Given the description of an element on the screen output the (x, y) to click on. 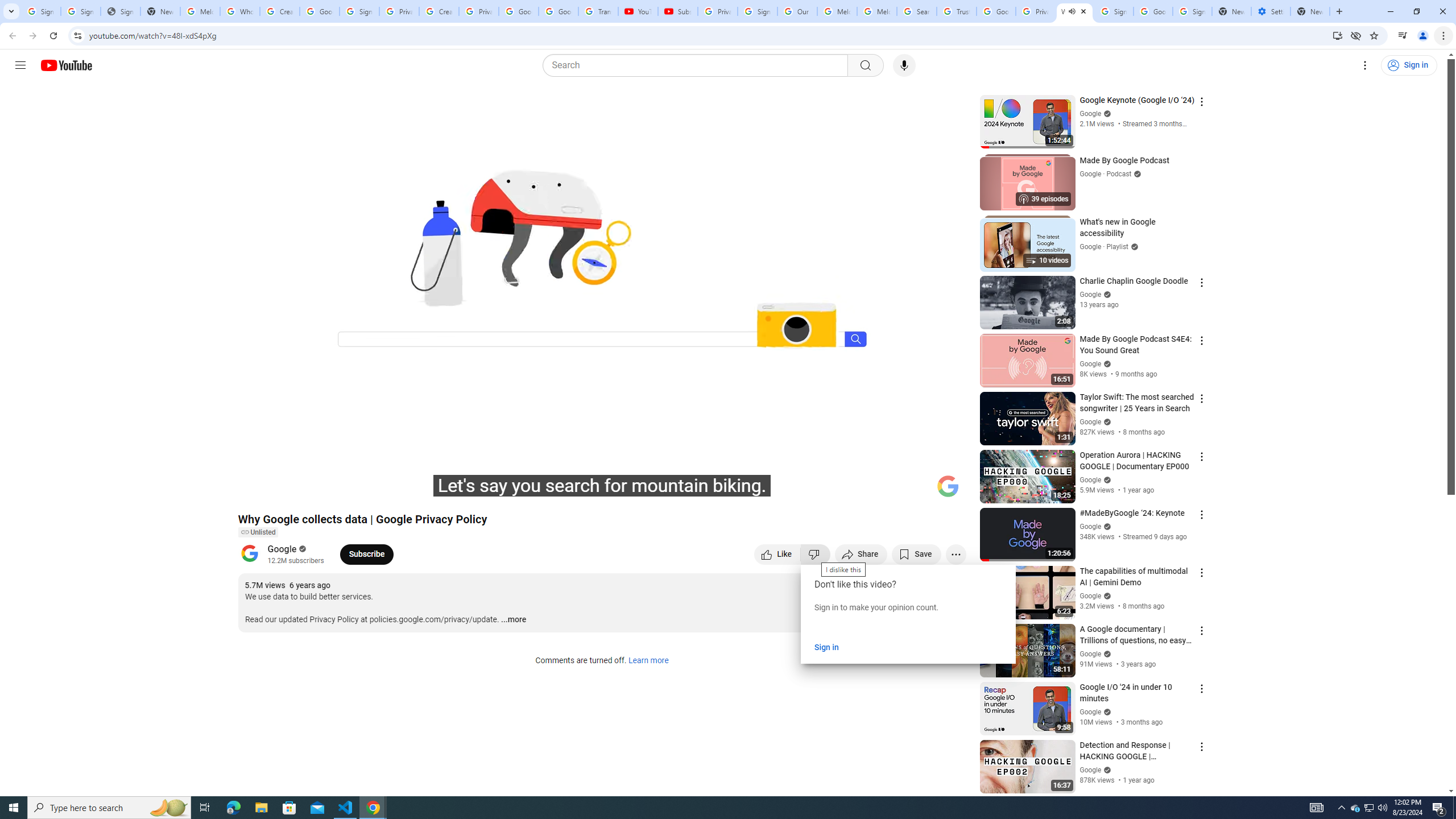
Trusted Information and Content - Google Safety Center (956, 11)
Miniplayer (i) (890, 490)
Sign in - Google Accounts (359, 11)
